Given the description of an element on the screen output the (x, y) to click on. 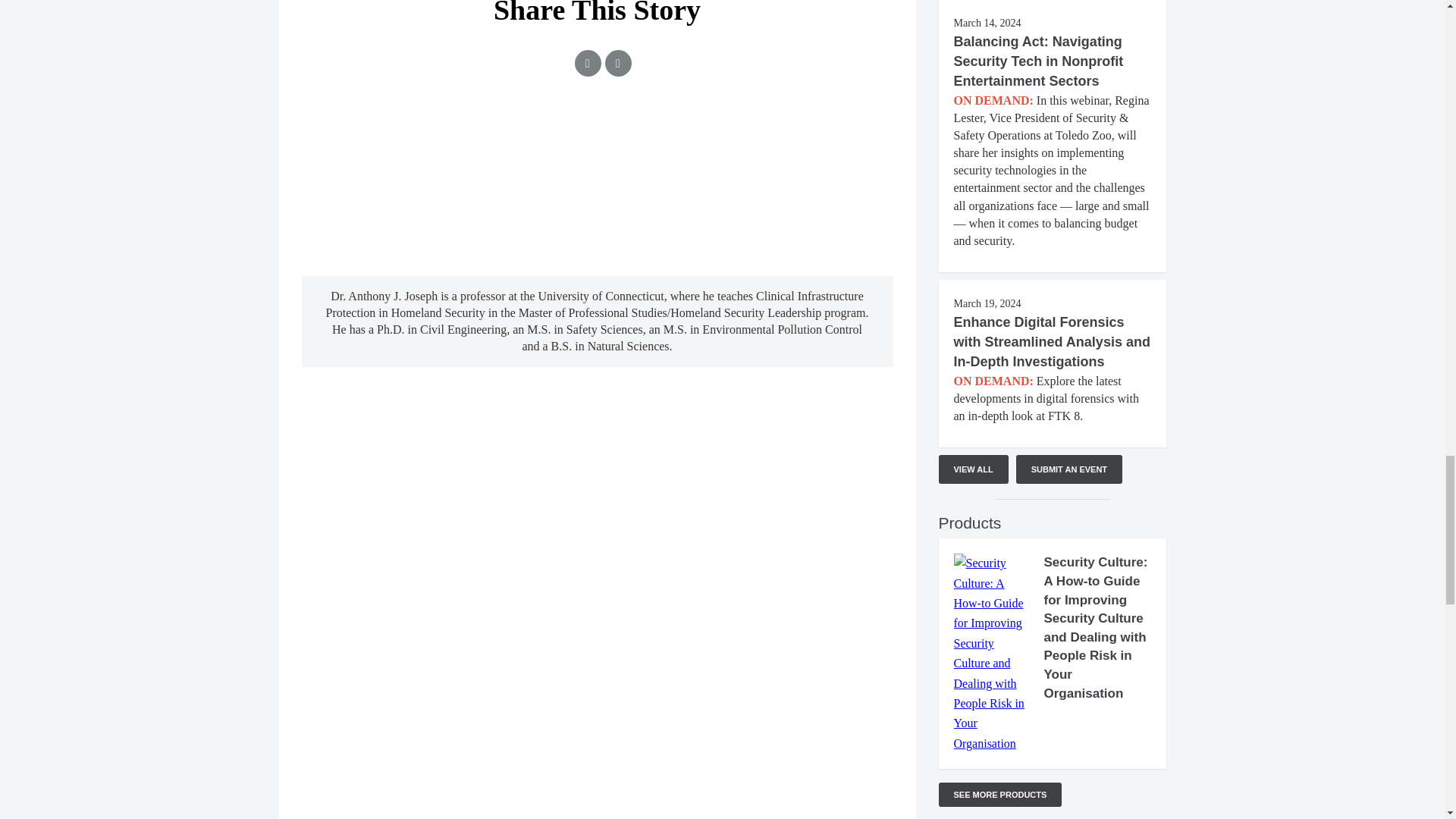
Interaction questions (597, 182)
